Given the description of an element on the screen output the (x, y) to click on. 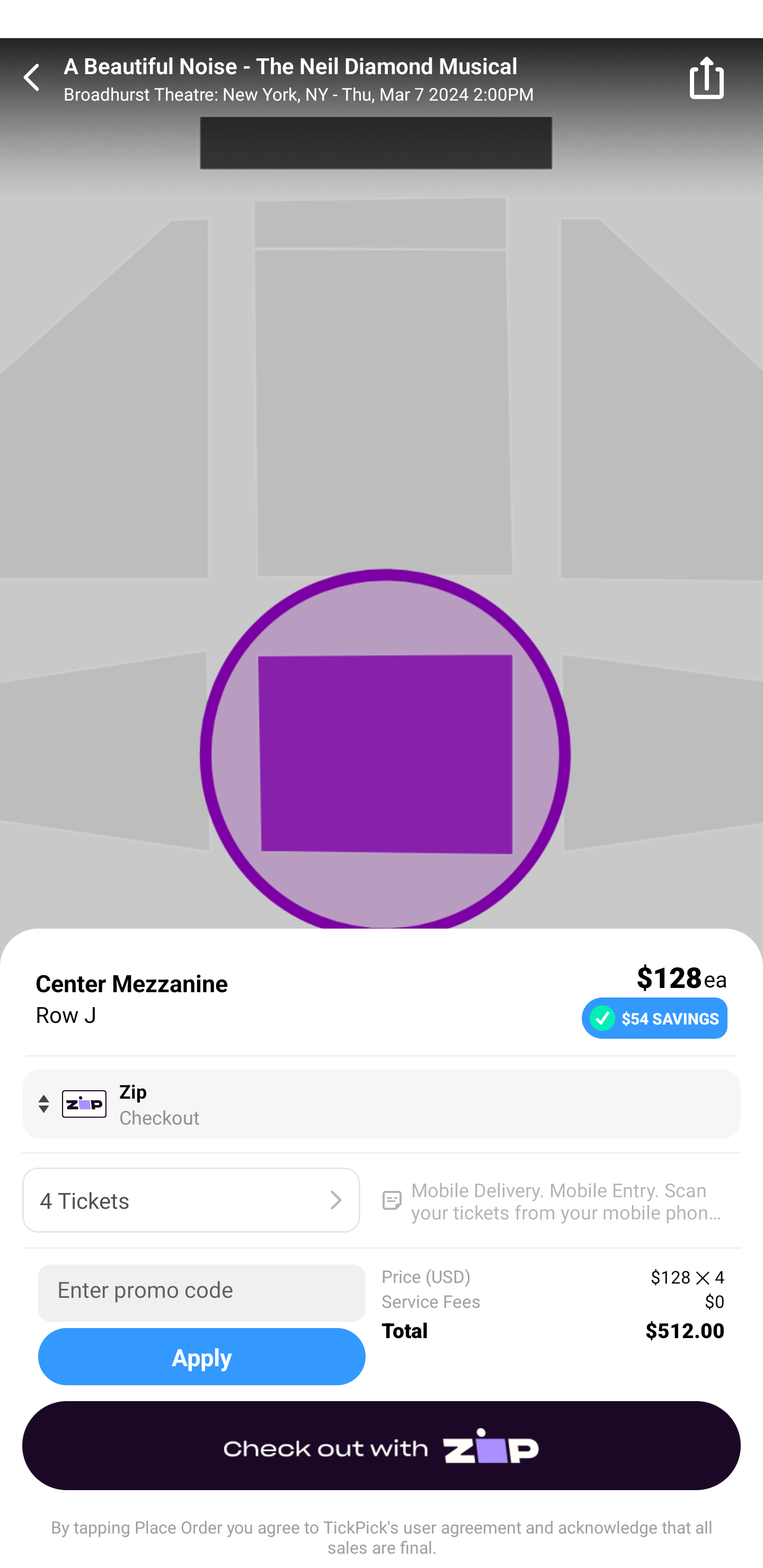
$54 SAVINGS (654, 1017)
Zip, Checkout Zip Checkout (381, 1103)
4 Tickets (191, 1200)
Enter promo code (201, 1292)
Apply (201, 1356)
